Given the description of an element on the screen output the (x, y) to click on. 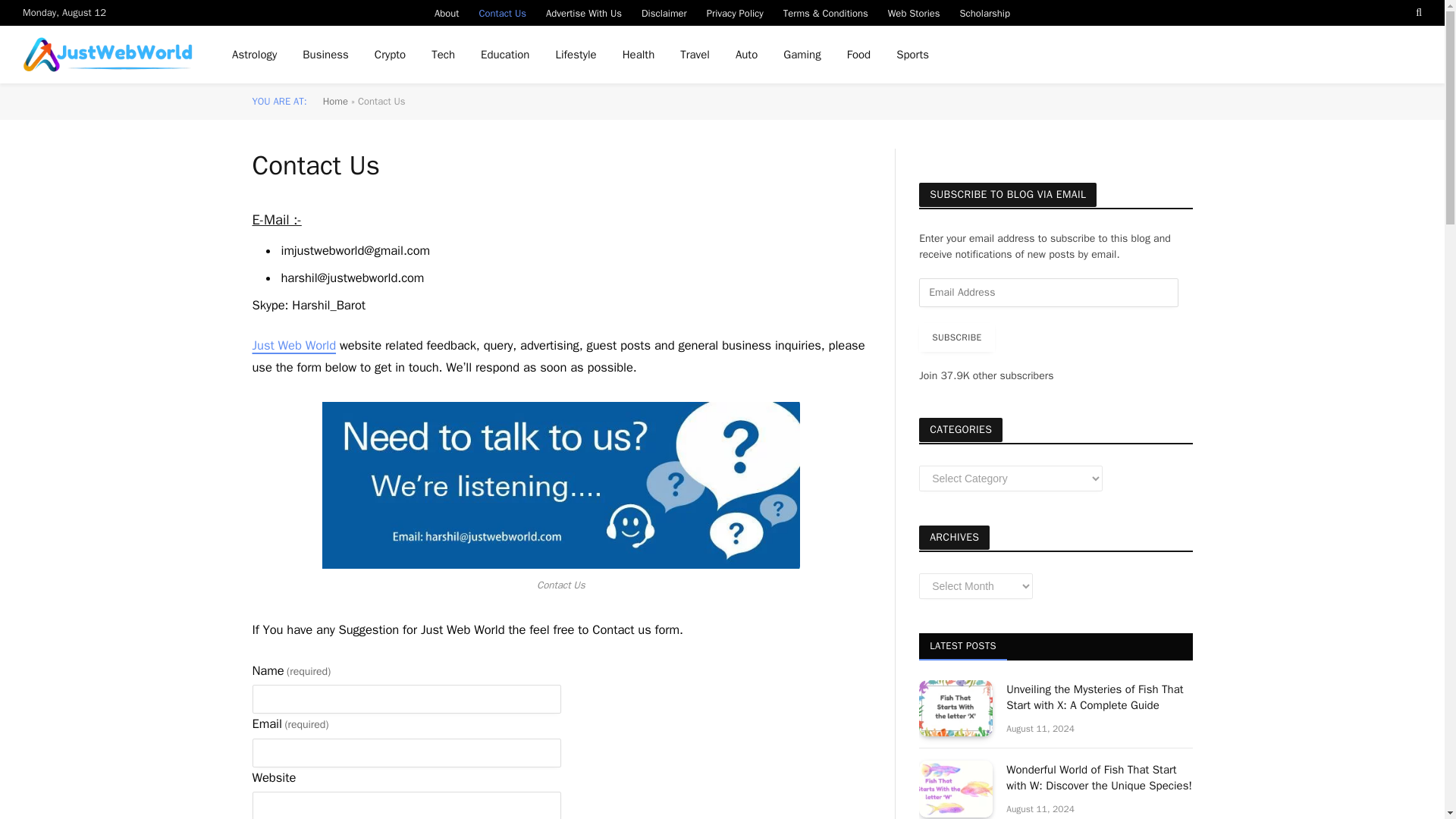
Privacy Policy (735, 12)
Sports (912, 54)
Web Stories (913, 12)
Advertise With Us (583, 12)
Astrology (254, 54)
JustWebWorld (107, 54)
Gaming (801, 54)
Crypto (390, 54)
